Given the description of an element on the screen output the (x, y) to click on. 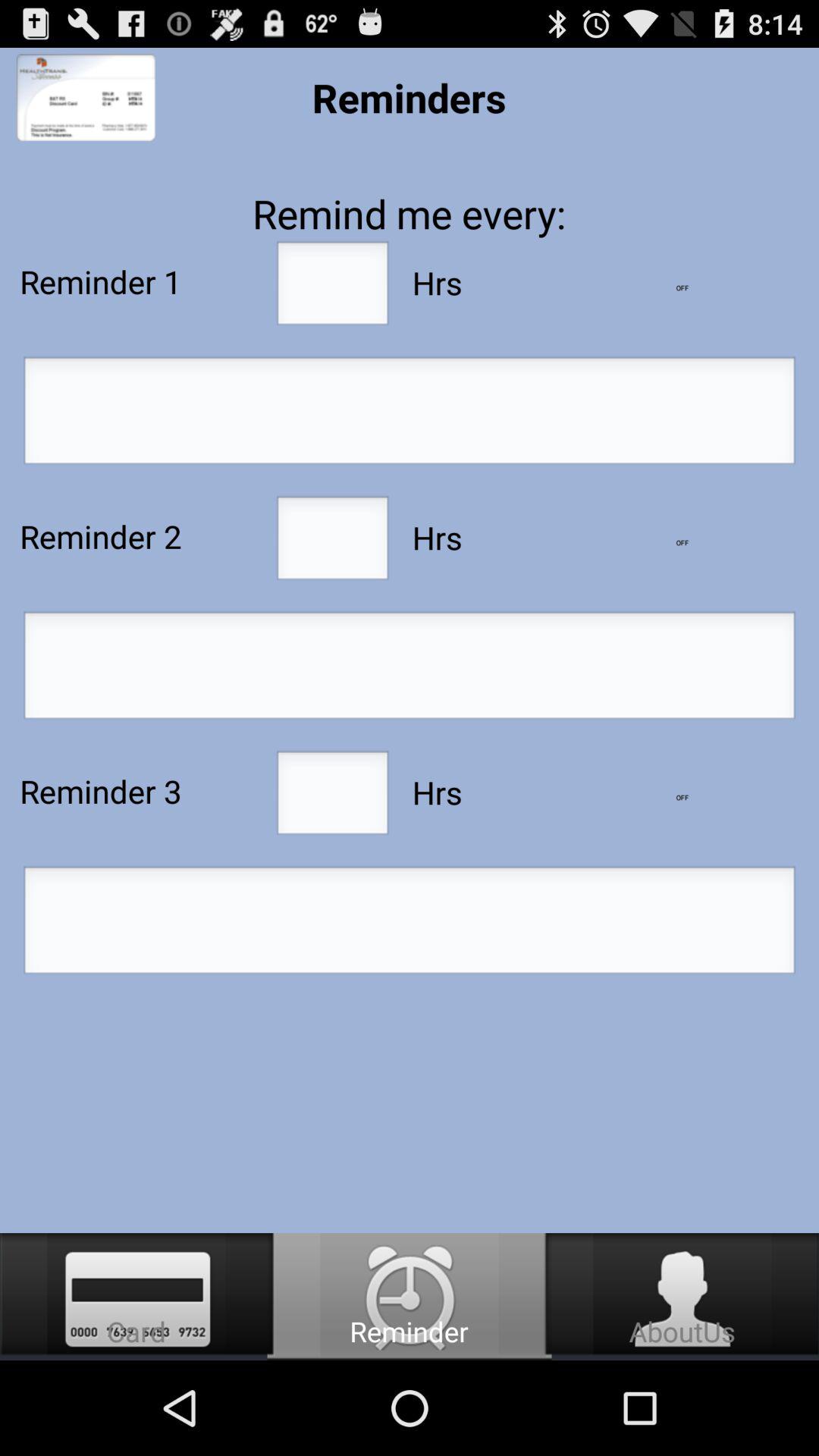
set time for reminder (409, 924)
